Given the description of an element on the screen output the (x, y) to click on. 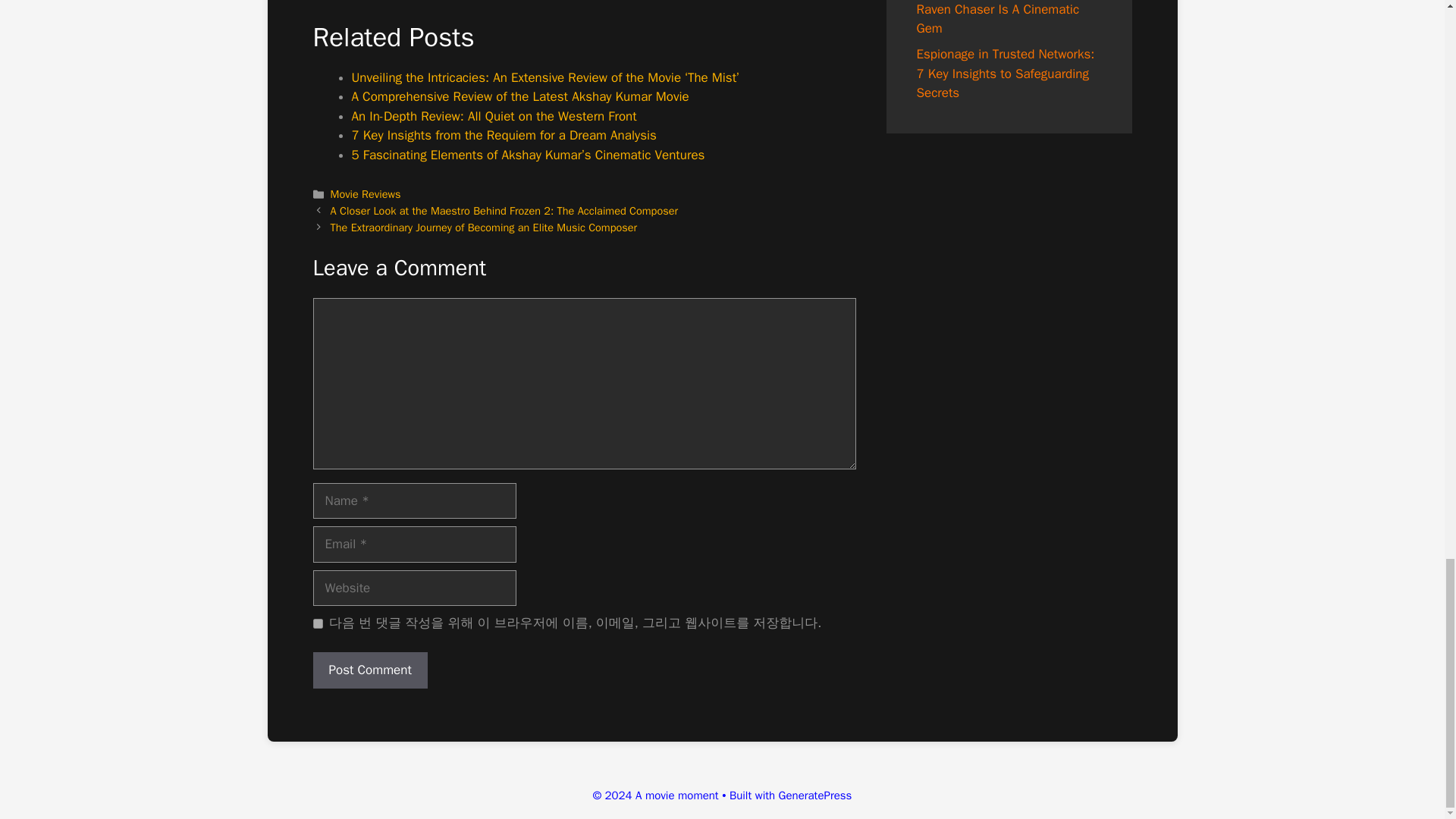
An In-Depth Review: All Quiet on the Western Front (494, 116)
7 Key Insights from the Requiem for a Dream Analysis (504, 135)
A Comprehensive Review of the Latest Akshay Kumar Movie (520, 96)
Post Comment (369, 669)
yes (317, 623)
Movie Reviews (365, 193)
Post Comment (369, 669)
